Given the description of an element on the screen output the (x, y) to click on. 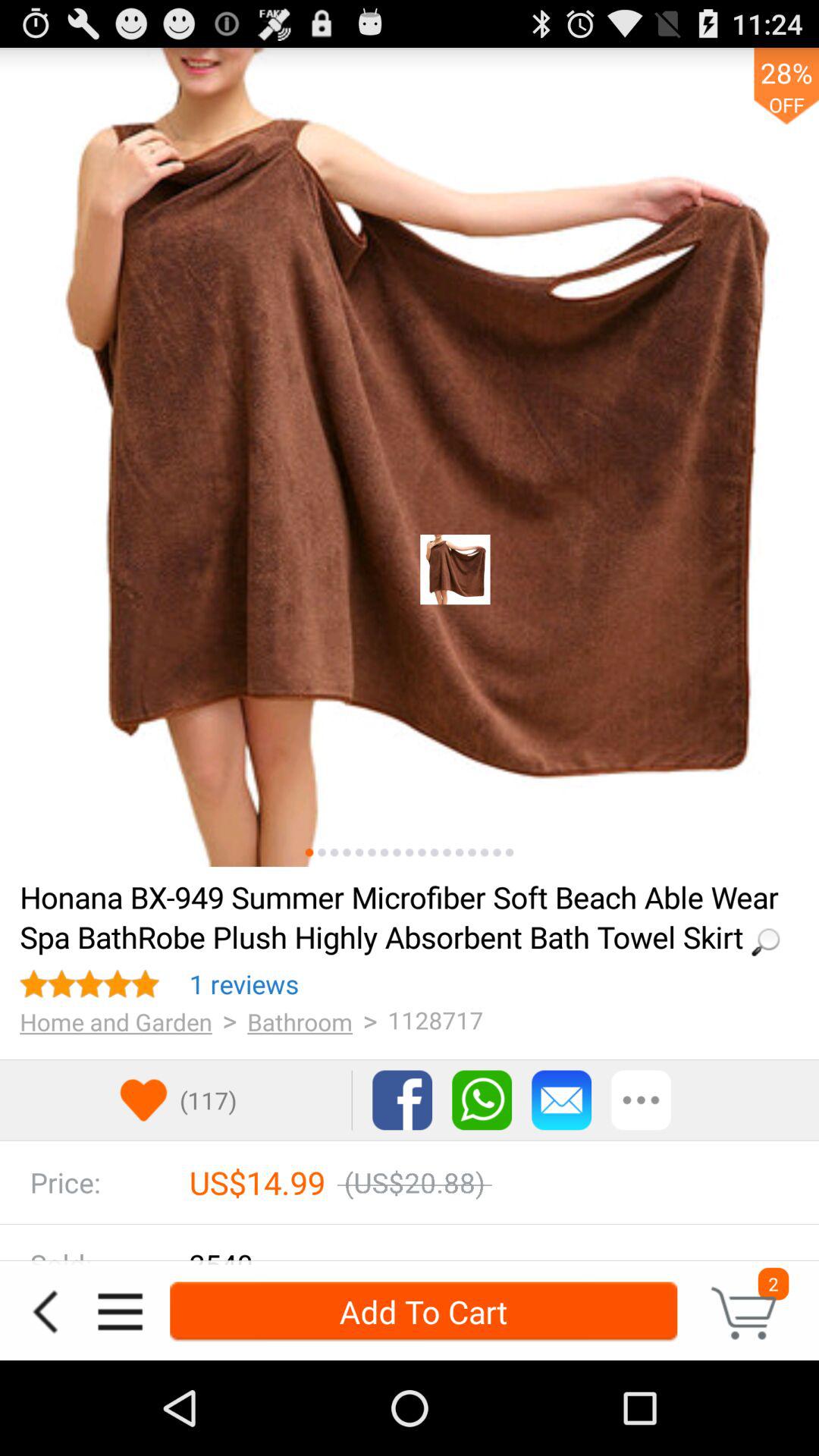
go to next image of the same product (321, 852)
